Given the description of an element on the screen output the (x, y) to click on. 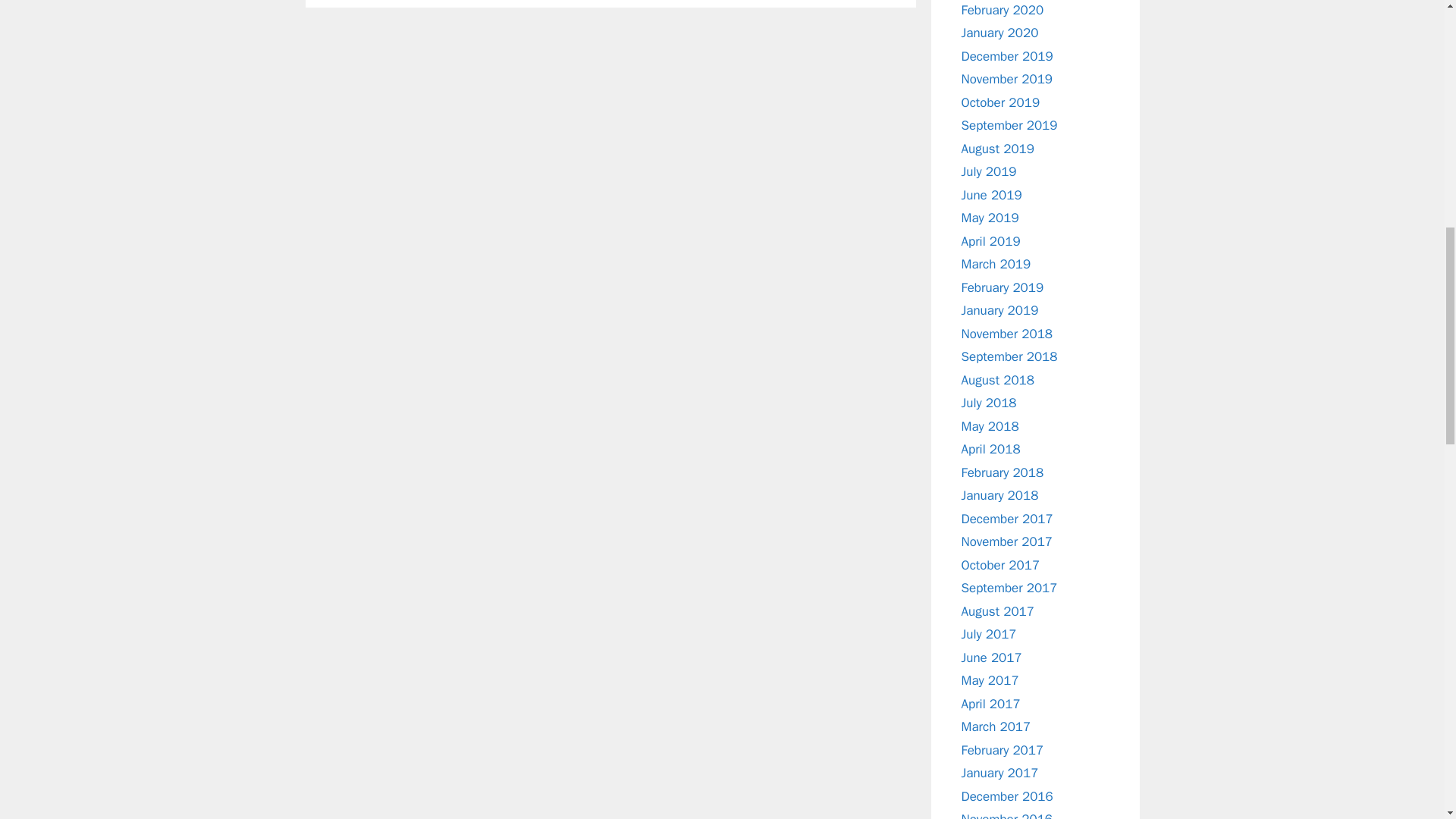
February 2019 (1001, 286)
July 2019 (988, 171)
May 2019 (989, 217)
January 2020 (999, 32)
March 2019 (995, 263)
December 2019 (1006, 56)
November 2019 (1006, 78)
September 2019 (1009, 125)
October 2019 (1000, 101)
January 2019 (999, 310)
